Given the description of an element on the screen output the (x, y) to click on. 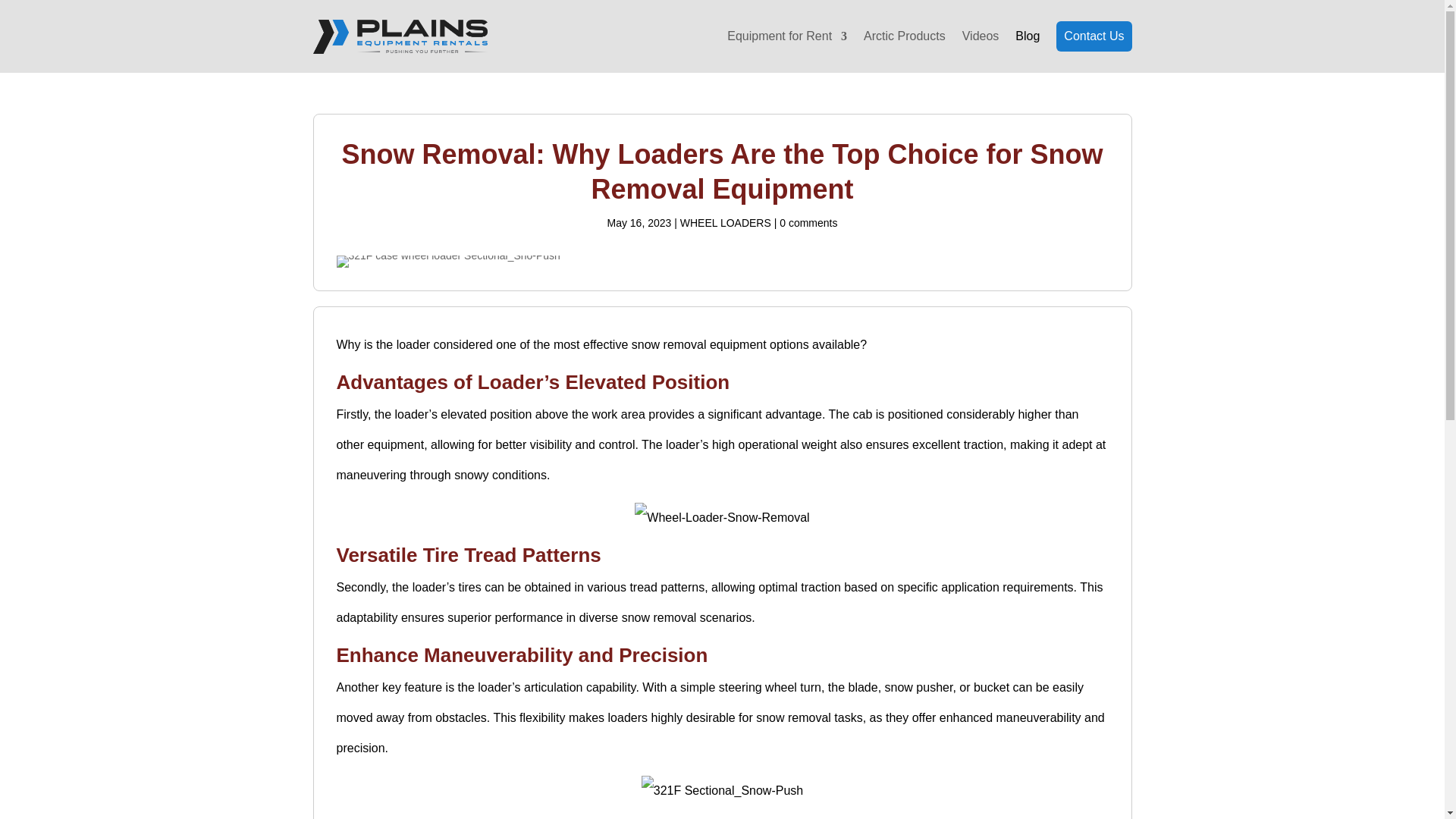
0 comments (807, 223)
Contact Us (1094, 36)
Equipment for Rent (786, 36)
WHEEL LOADERS (725, 223)
Arctic Products (903, 36)
